Given the description of an element on the screen output the (x, y) to click on. 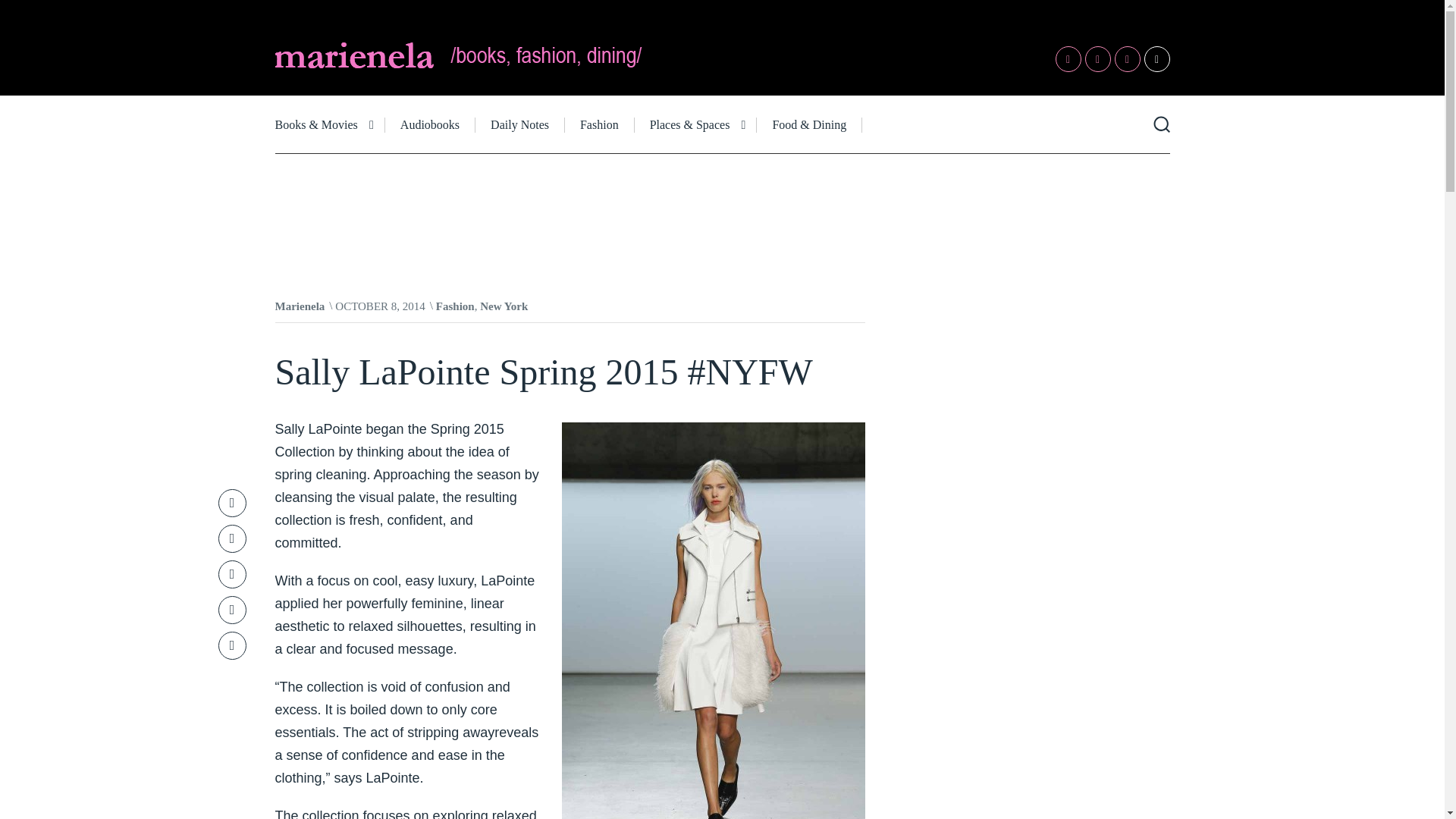
Audiobooks (430, 124)
Fashion (599, 124)
New York (503, 306)
Marienela (299, 306)
Daily Notes (520, 124)
View all posts in Fashion (454, 306)
Fashion (454, 306)
Posts by Marienela (299, 306)
View all posts in New York (503, 306)
